Given the description of an element on the screen output the (x, y) to click on. 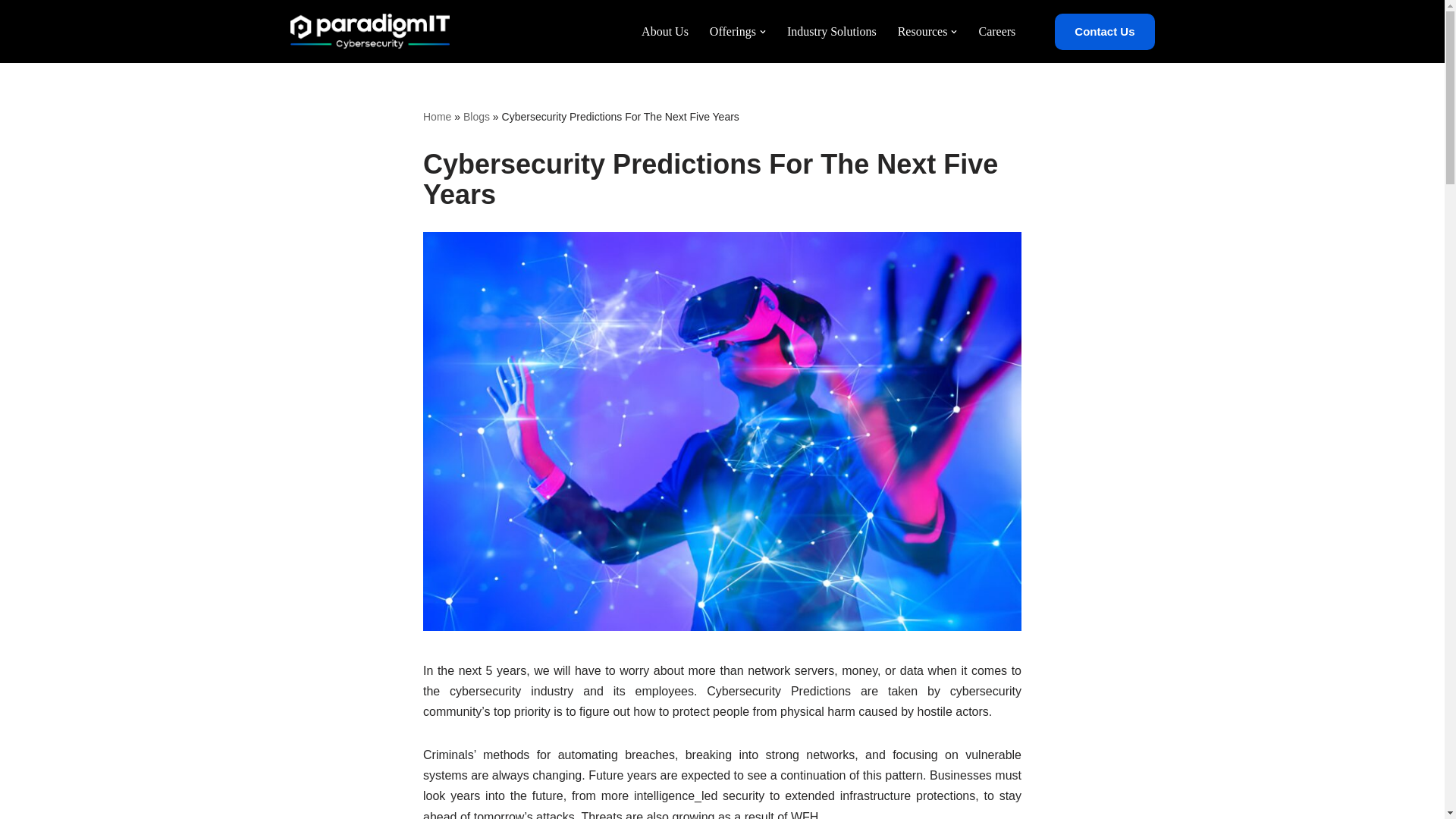
Skip to content (11, 31)
Resources (922, 31)
Offerings (732, 31)
Careers (996, 31)
About Us (665, 31)
Contact Us (1104, 31)
Industry Solutions (831, 31)
